Given the description of an element on the screen output the (x, y) to click on. 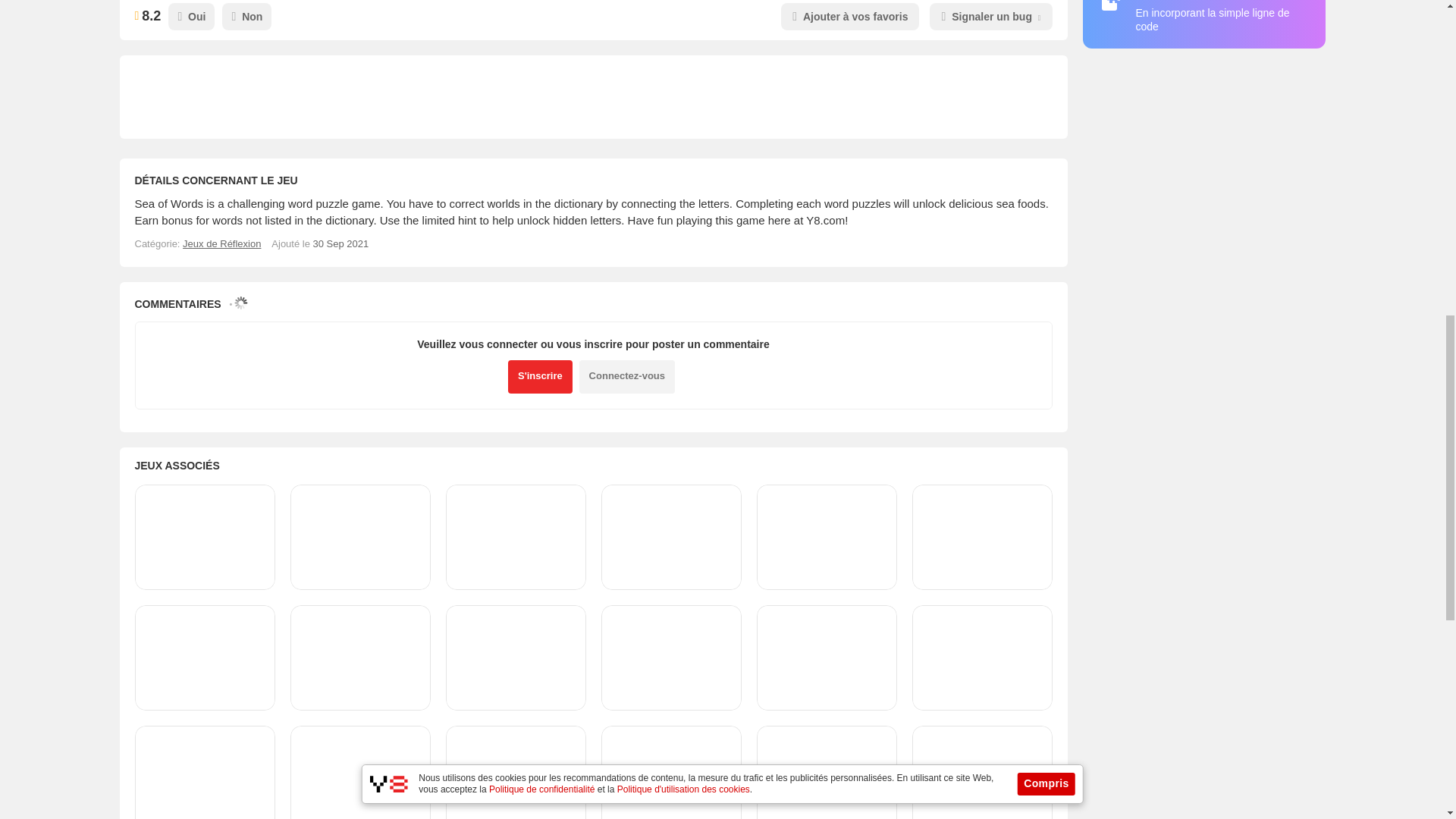
Thinking (221, 243)
